Given the description of an element on the screen output the (x, y) to click on. 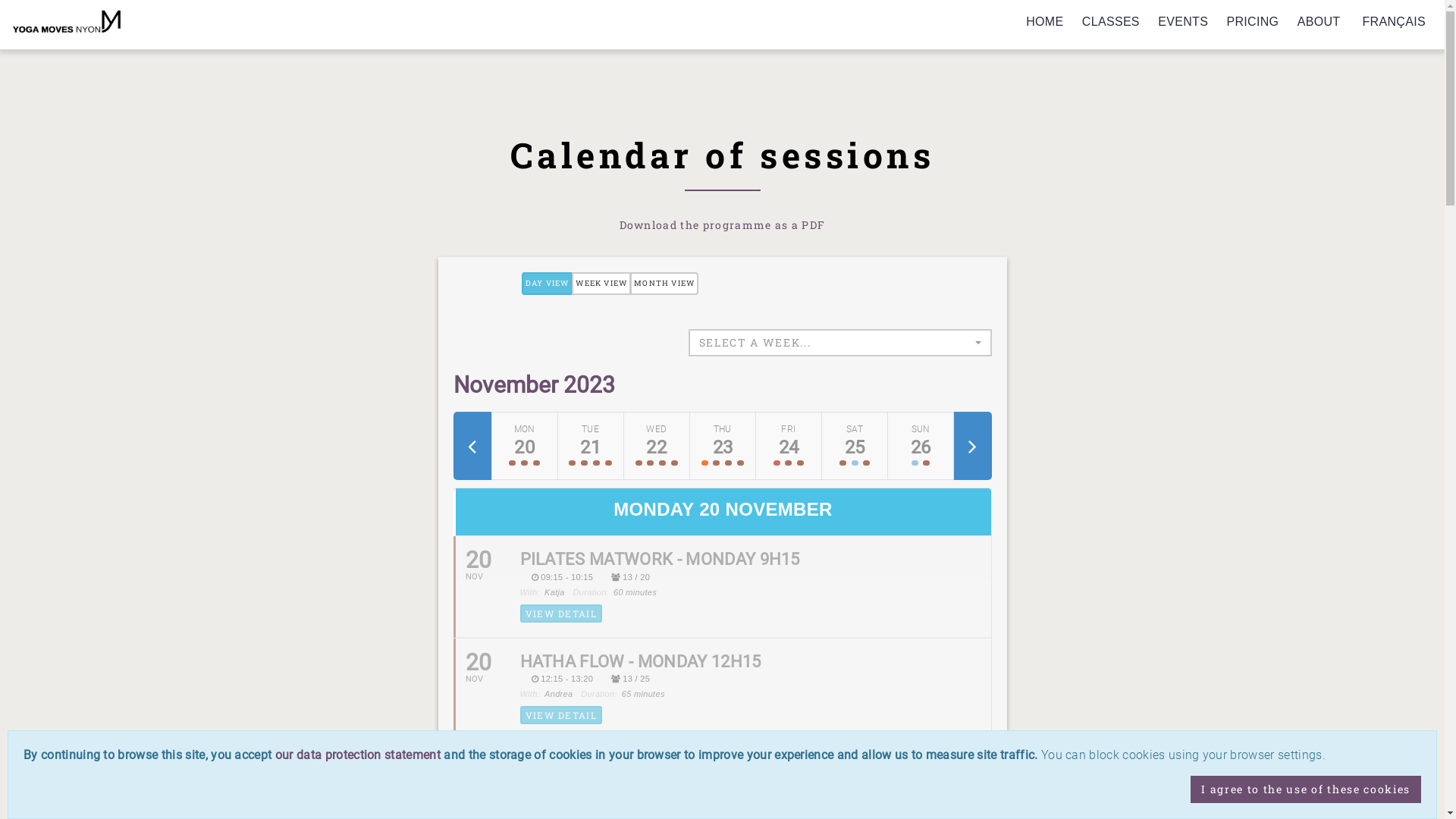
I agree to the use of these cookies Element type: text (1305, 789)
SELECT A WEEK...
  Element type: text (839, 342)
ABOUT Element type: text (1318, 21)
VIEW DETAIL Element type: text (561, 613)
EVENTS Element type: text (1182, 21)
CLASSES Element type: text (1110, 21)
Download the programme as a PDF Element type: text (722, 224)
WEEK VIEW Element type: text (600, 283)
MONTH VIEW Element type: text (664, 283)
VIEW DETAIL Element type: text (561, 715)
PRICING Element type: text (1252, 21)
our data protection statement Element type: text (357, 754)
HOME Element type: text (1044, 21)
DAY VIEW Element type: text (547, 283)
